Given the description of an element on the screen output the (x, y) to click on. 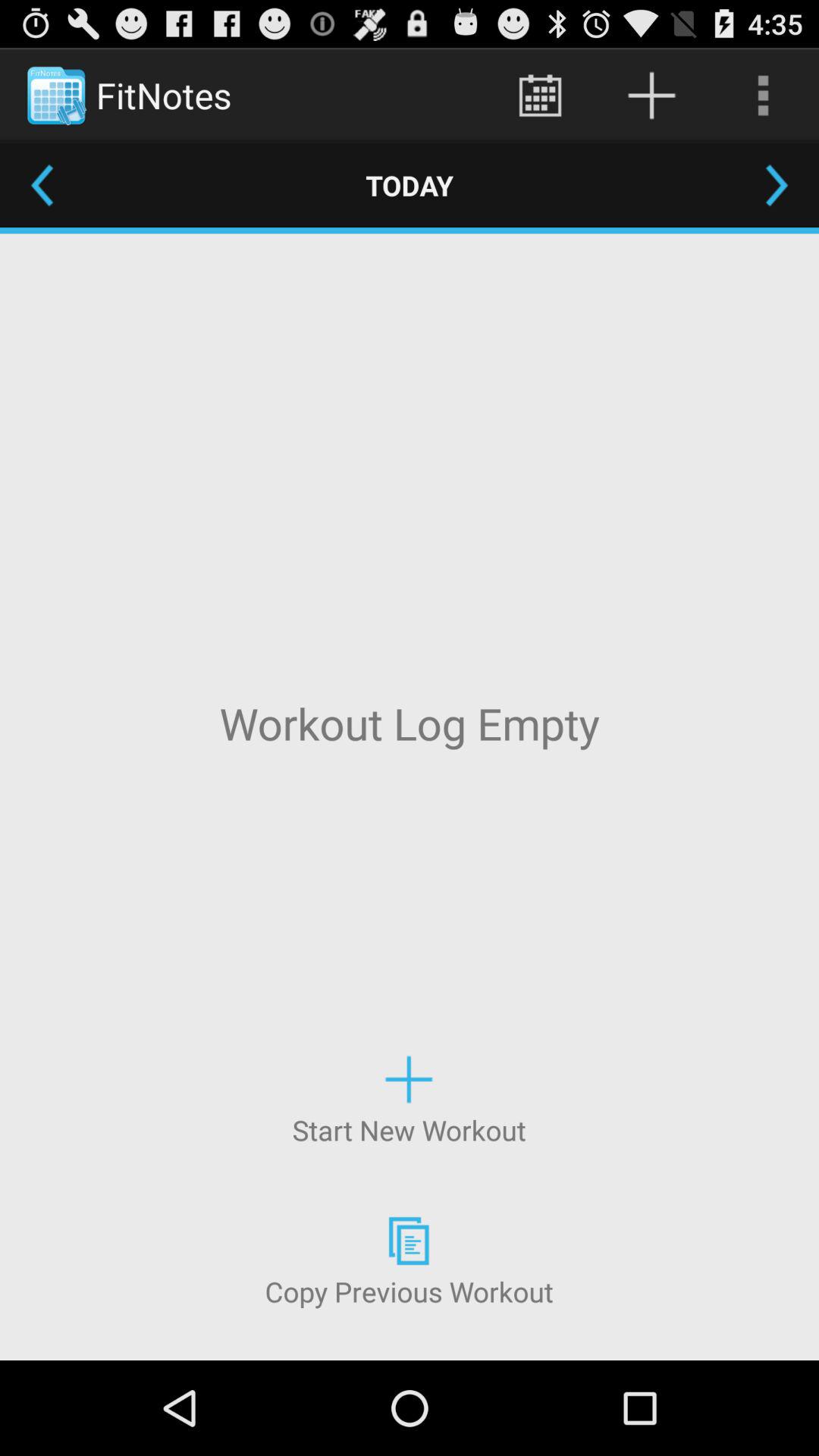
open item next to fitnotes app (540, 95)
